Given the description of an element on the screen output the (x, y) to click on. 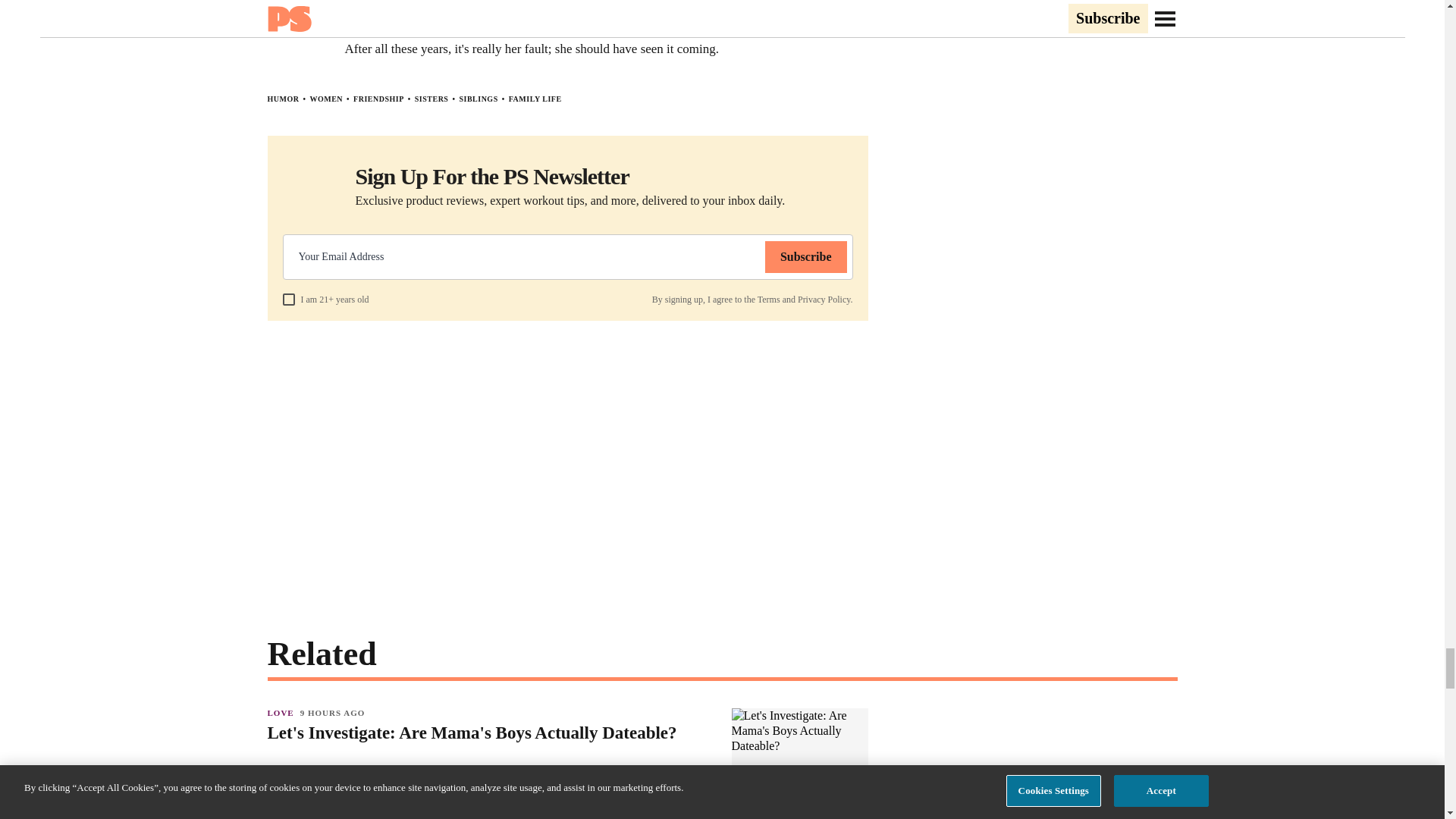
HUMOR (282, 99)
